Given the description of an element on the screen output the (x, y) to click on. 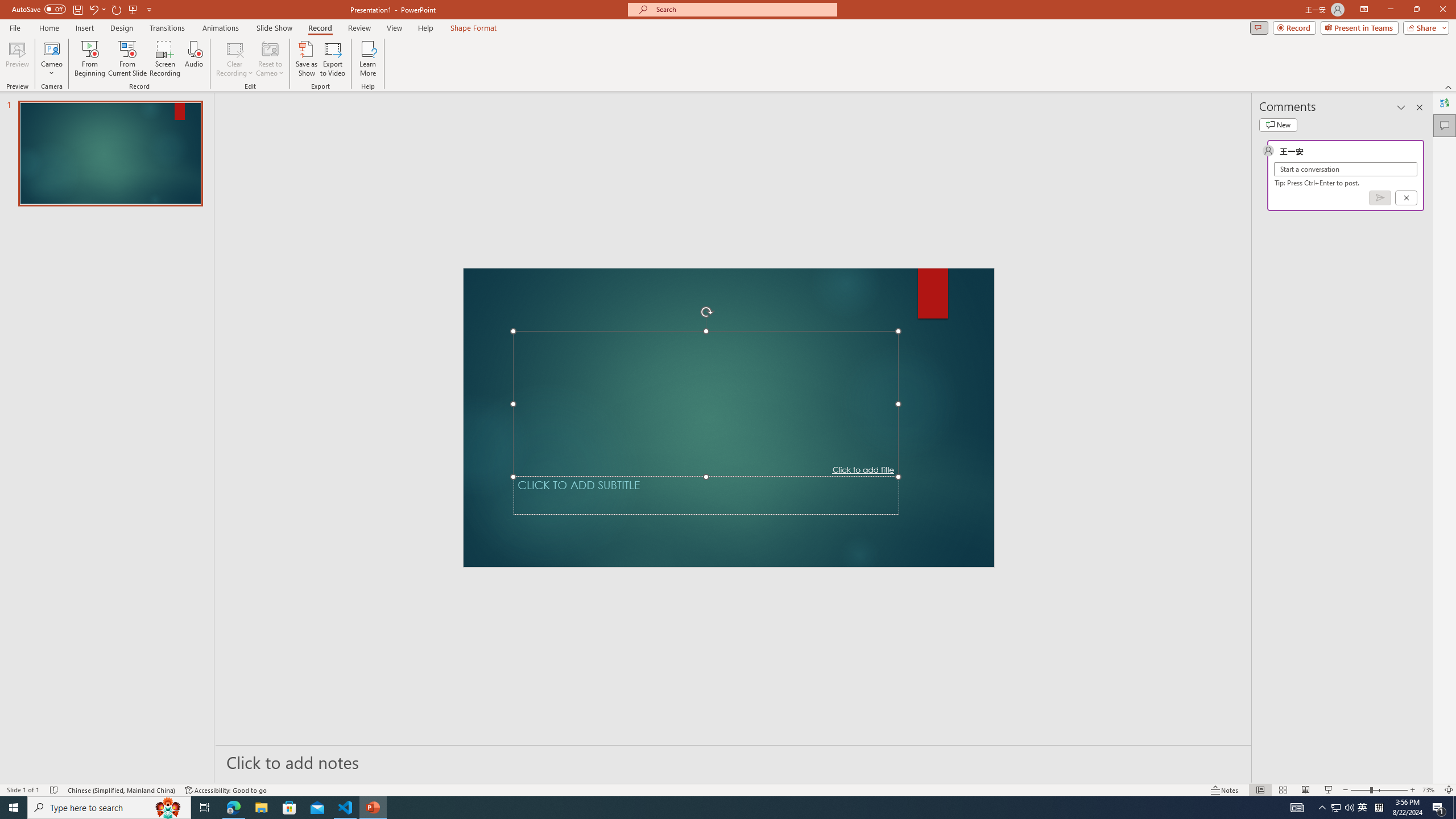
Post comment (Ctrl + Enter) (1379, 197)
Start a conversation (1344, 168)
New comment (1278, 124)
